Given the description of an element on the screen output the (x, y) to click on. 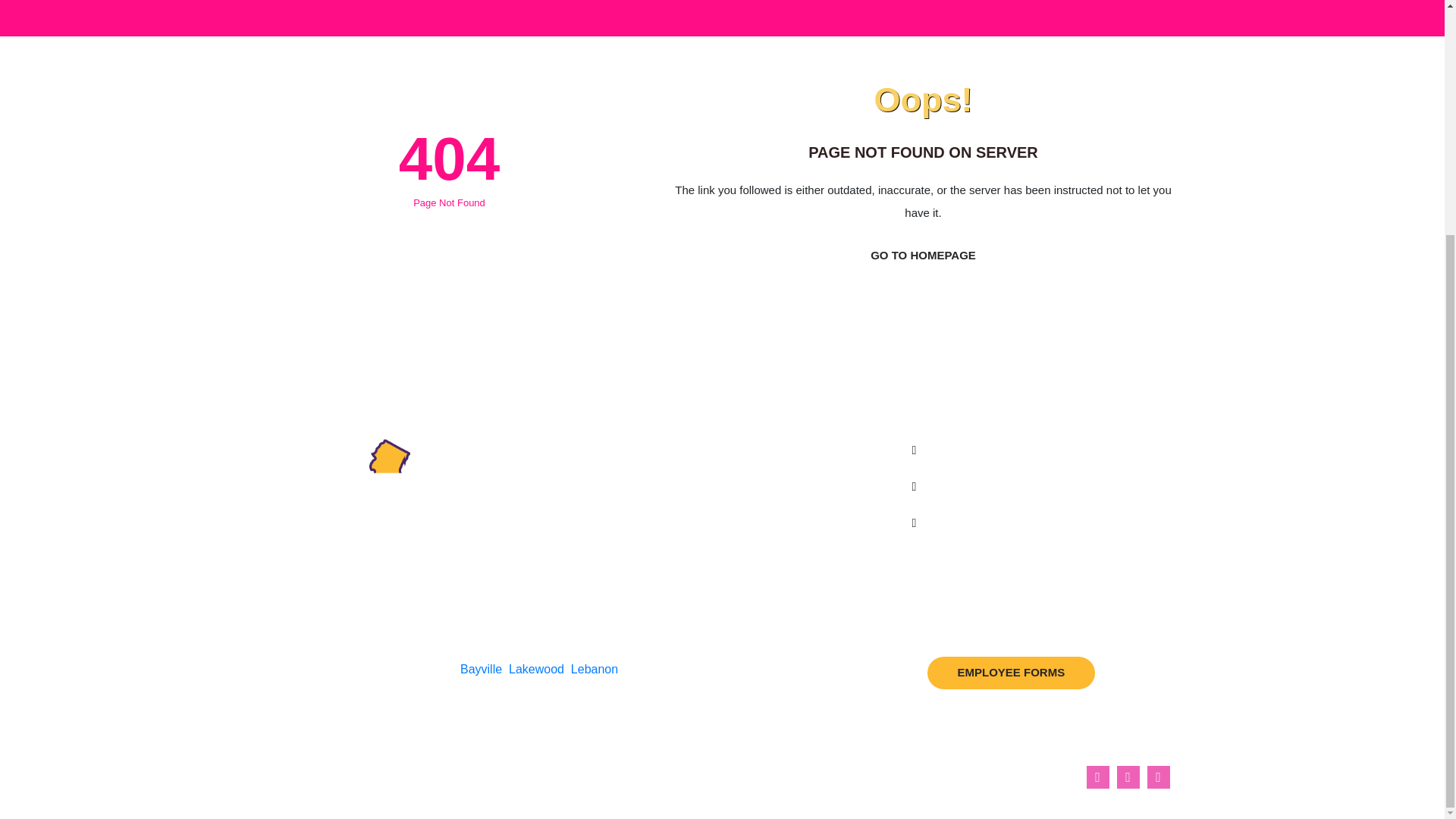
GALLERY (742, 534)
Bayville (481, 668)
GO TO HOMEPAGE (923, 255)
ABOUT (734, 507)
GO TO HOMEPAGE (923, 254)
Lebanon (593, 668)
Lakewood (536, 668)
GOOGLE REVIEWS (770, 562)
CLIENT LOGIN (755, 479)
HOME (732, 451)
